Given the description of an element on the screen output the (x, y) to click on. 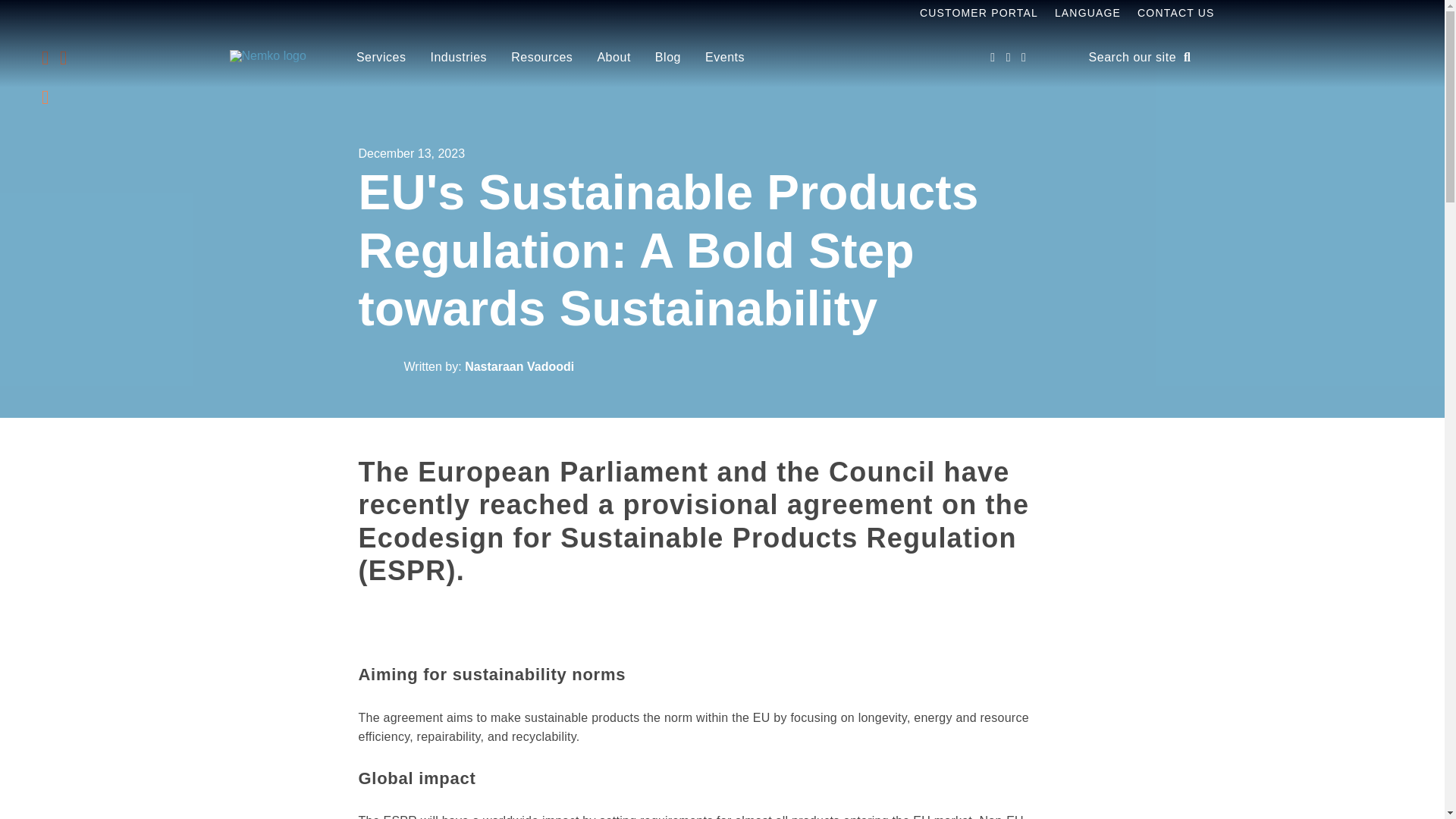
CONTACT US (1175, 12)
Industries (457, 57)
Services (381, 57)
LANGUAGE (1087, 12)
CUSTOMER PORTAL (979, 12)
